Given the description of an element on the screen output the (x, y) to click on. 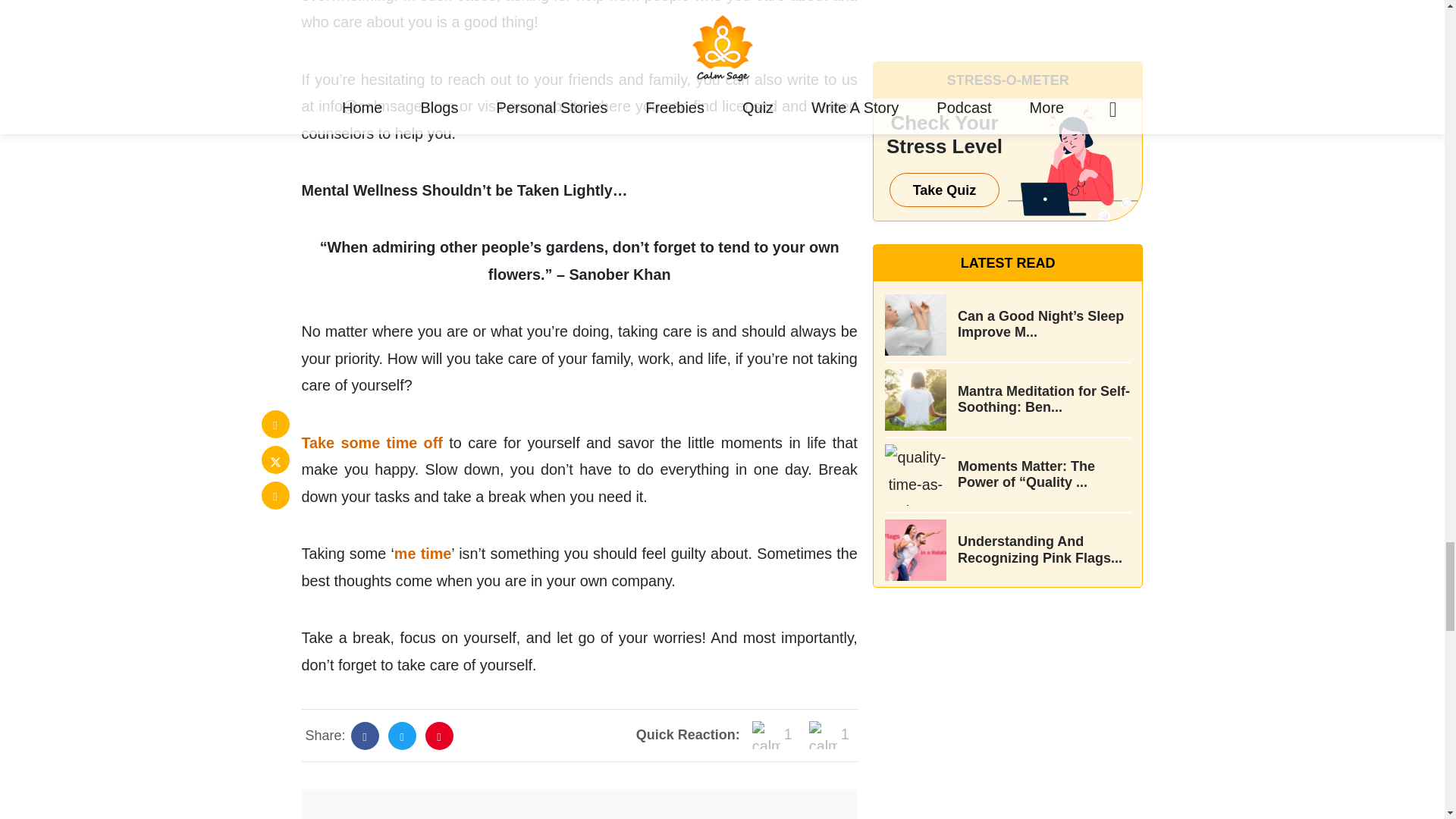
Take some time off (371, 442)
me time (422, 553)
